Given the description of an element on the screen output the (x, y) to click on. 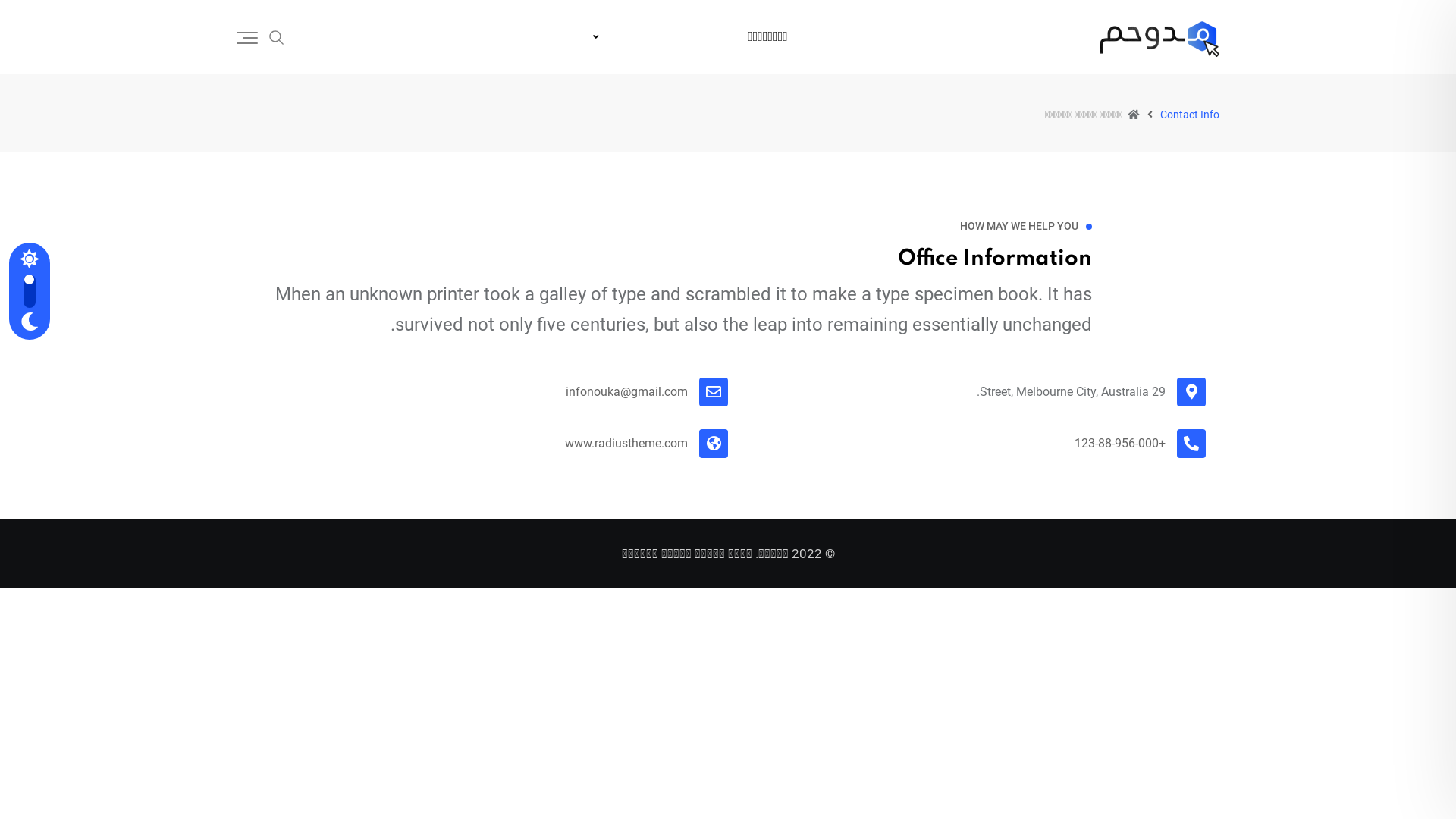
www.radiustheme.com Element type: text (625, 443)
Search Element type: hover (276, 36)
+123-88-956-000 Element type: text (1119, 443)
infonouka@gmail.com Element type: text (626, 391)
